Given the description of an element on the screen output the (x, y) to click on. 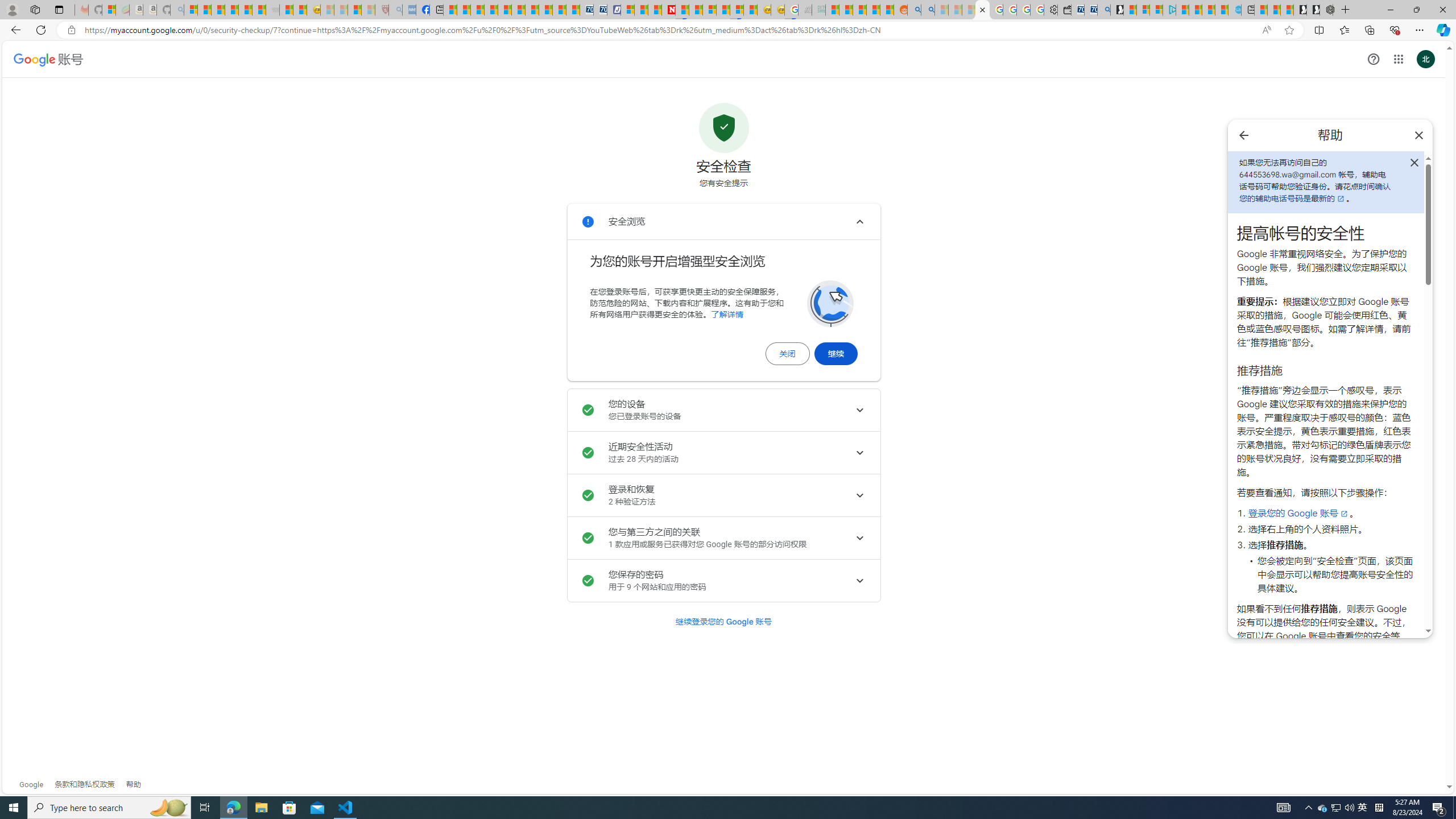
The Weather Channel - MSN (218, 9)
New Report Confirms 2023 Was Record Hot | Watch (245, 9)
Climate Damage Becomes Too Severe To Reverse (490, 9)
